Given the description of an element on the screen output the (x, y) to click on. 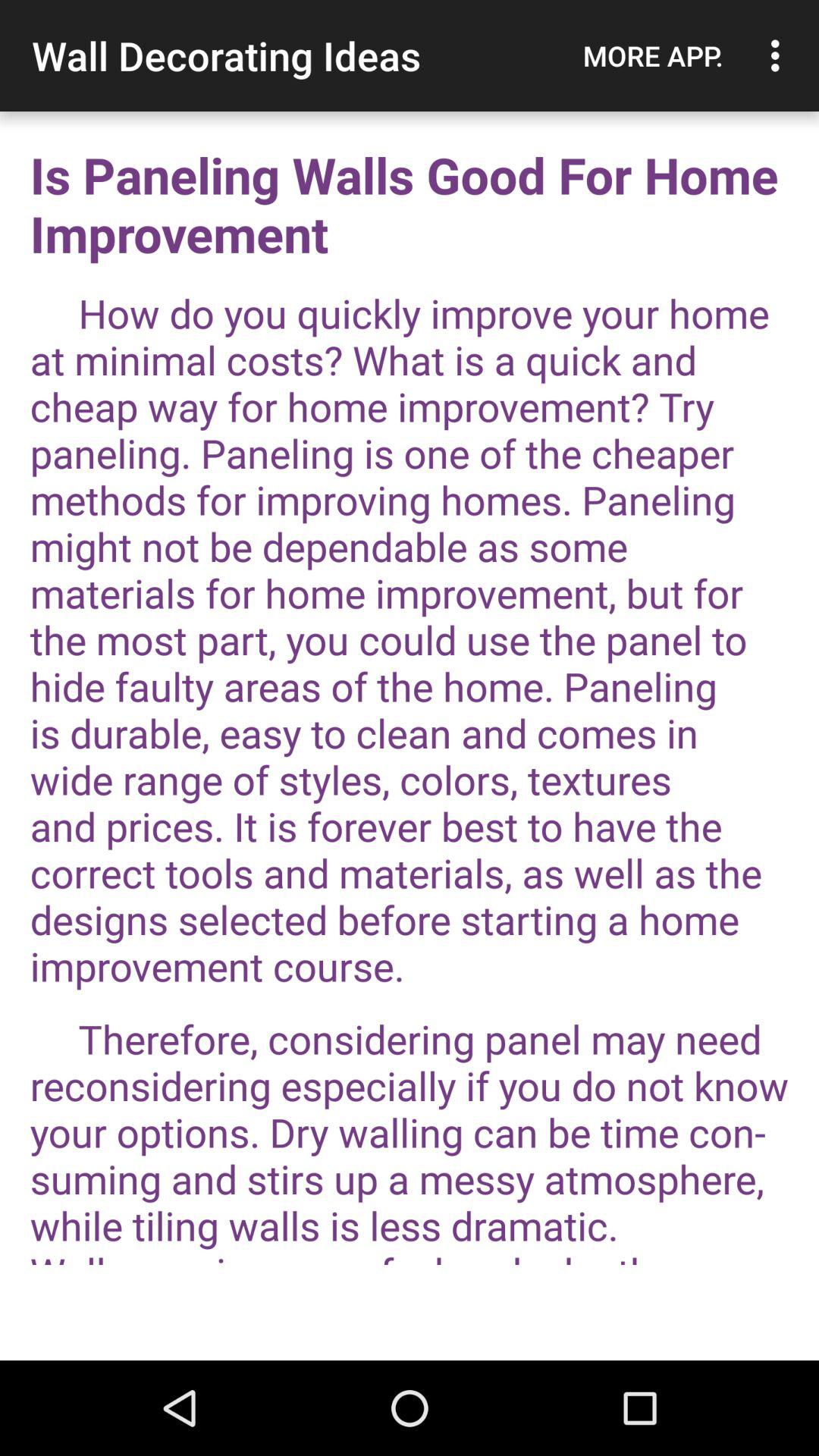
turn off the item to the right of more app. icon (779, 55)
